Given the description of an element on the screen output the (x, y) to click on. 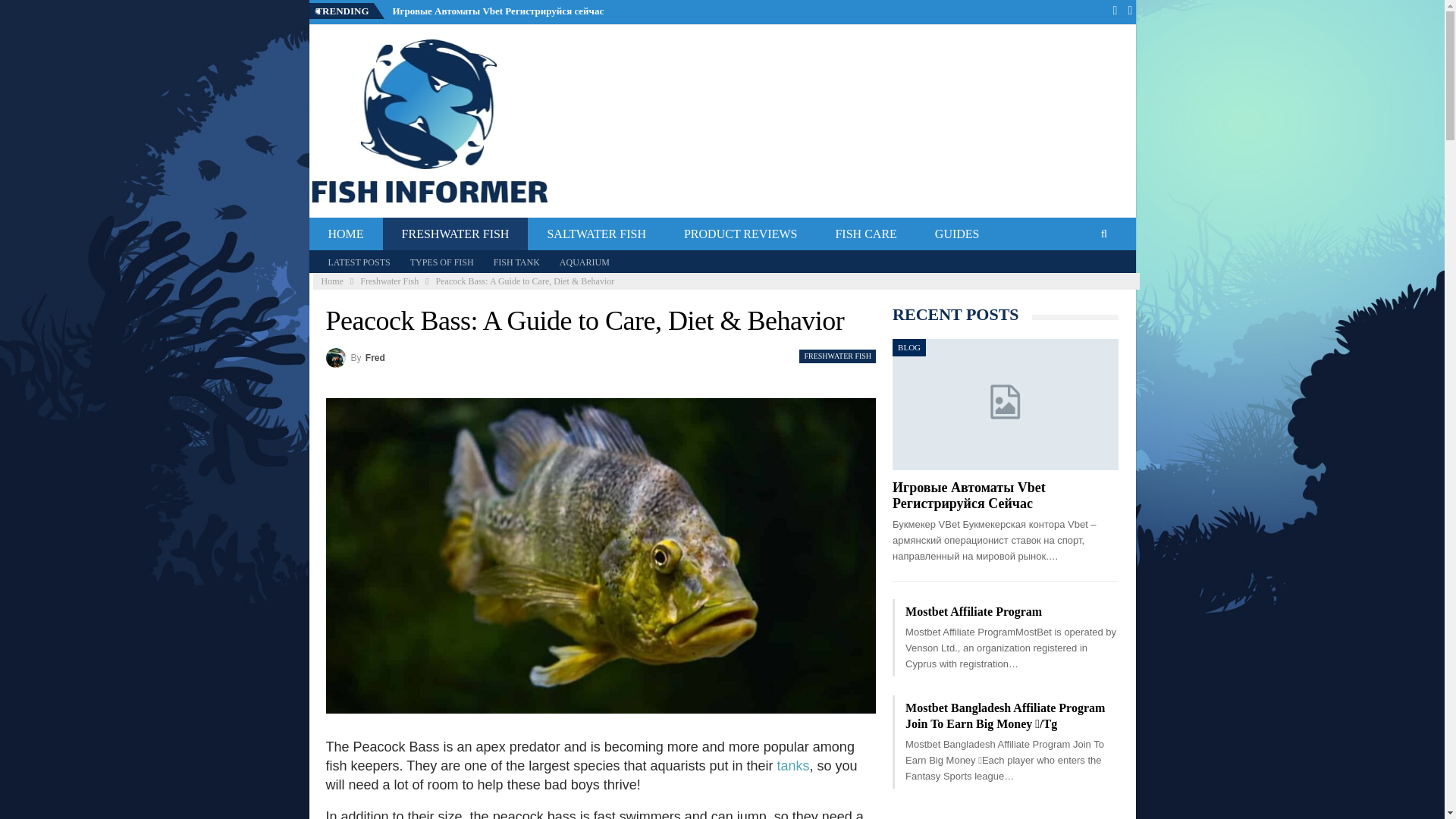
FISH TANK (516, 262)
HOME (345, 233)
TYPES OF FISH (442, 262)
LATEST POSTS (358, 262)
GUIDES (956, 233)
AQUARIUM (584, 262)
Browse Author Articles (355, 358)
FISH CARE (865, 233)
PRODUCT REVIEWS (740, 233)
FRESHWATER FISH (455, 233)
SALTWATER FISH (596, 233)
